Given the description of an element on the screen output the (x, y) to click on. 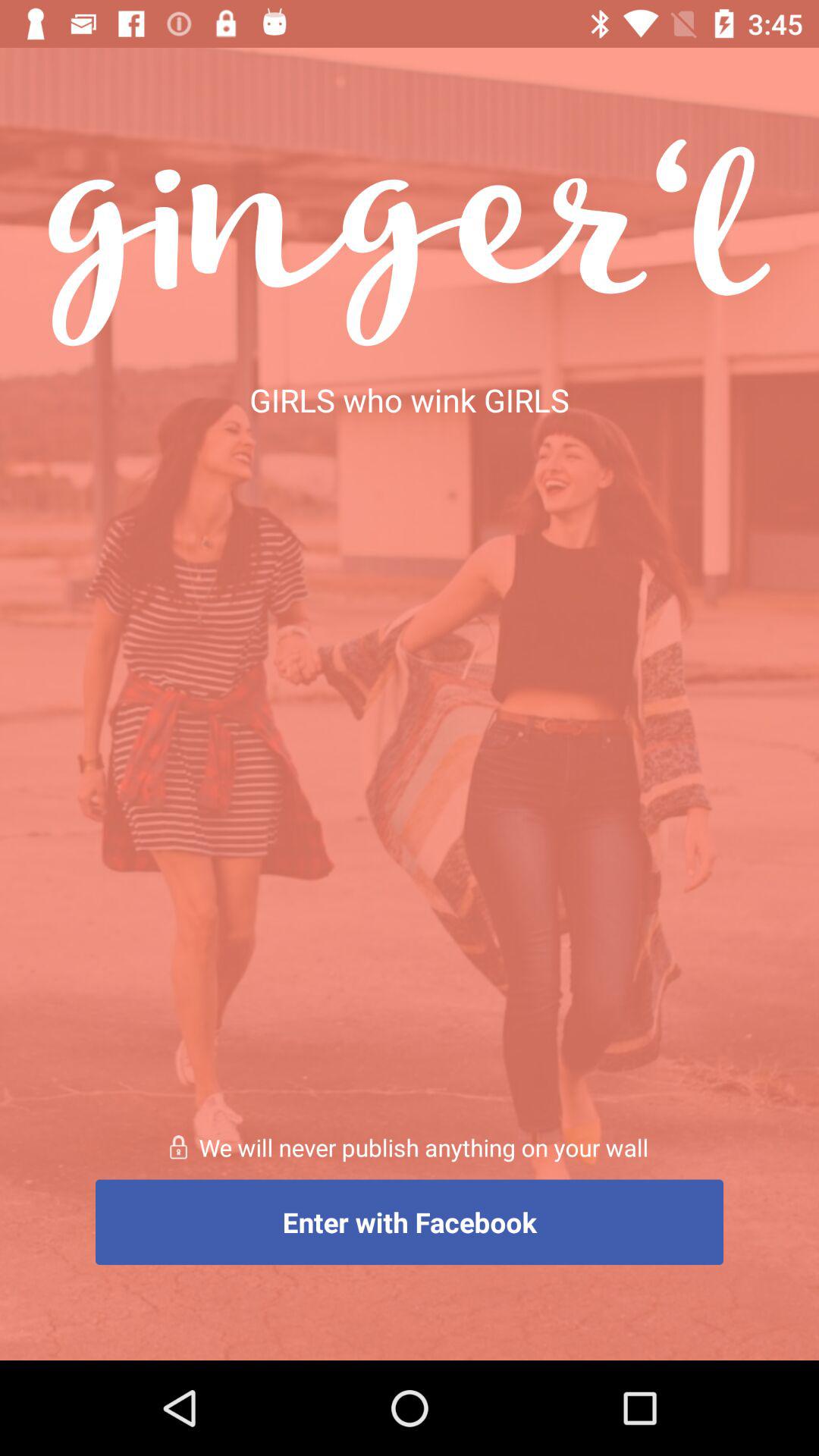
open enter with facebook (409, 1221)
